Given the description of an element on the screen output the (x, y) to click on. 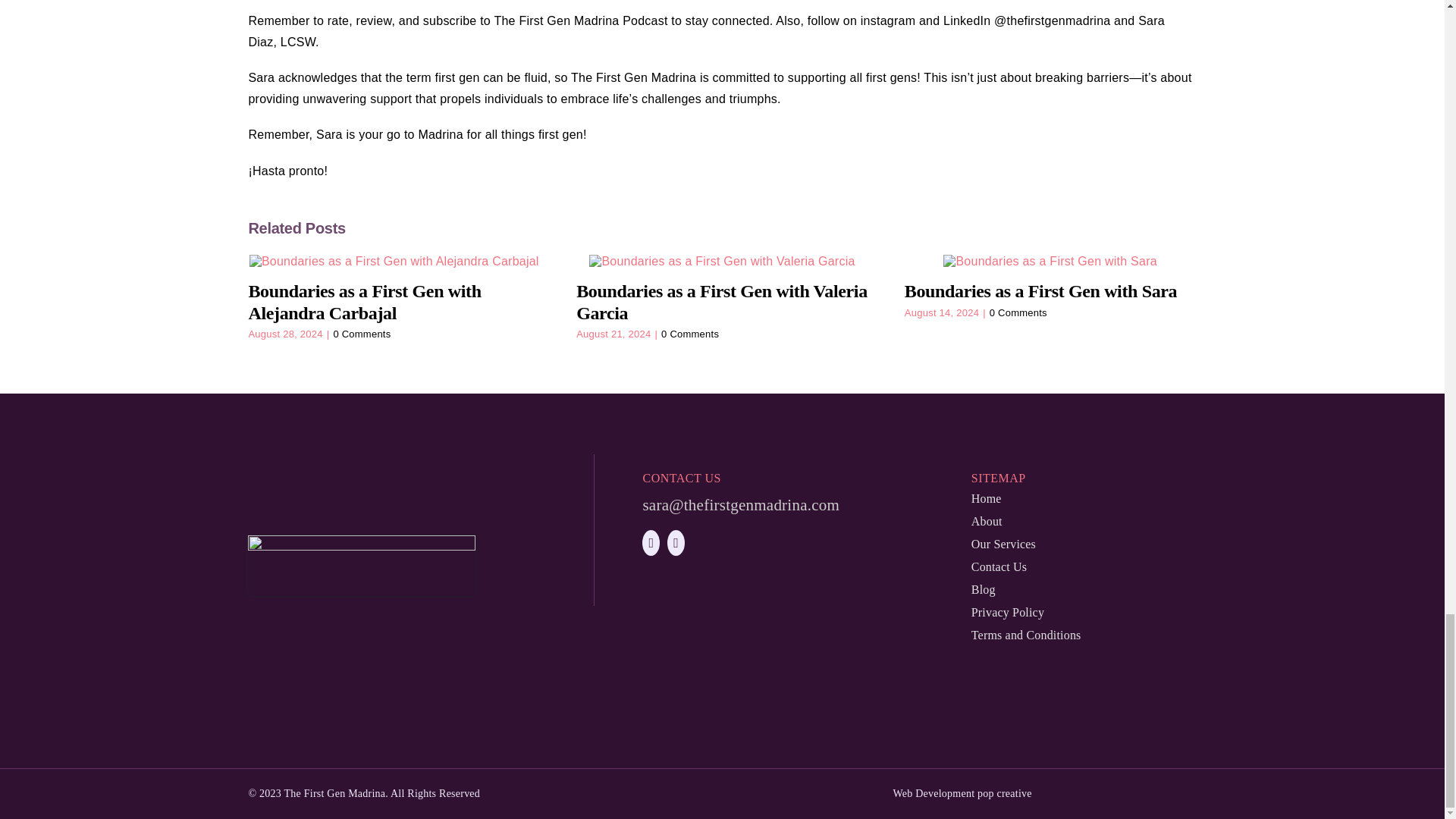
0 Comments (361, 333)
Boundaries as a First Gen with Sara (1040, 291)
Boundaries as a First Gen with Alejandra Carbajal (363, 301)
Boundaries as a First Gen with Alejandra Carbajal (363, 301)
Boundaries as a First Gen with Valeria Garcia (721, 301)
Boundaries as a First Gen with Valeria Garcia (721, 301)
0 Comments (690, 333)
